Given the description of an element on the screen output the (x, y) to click on. 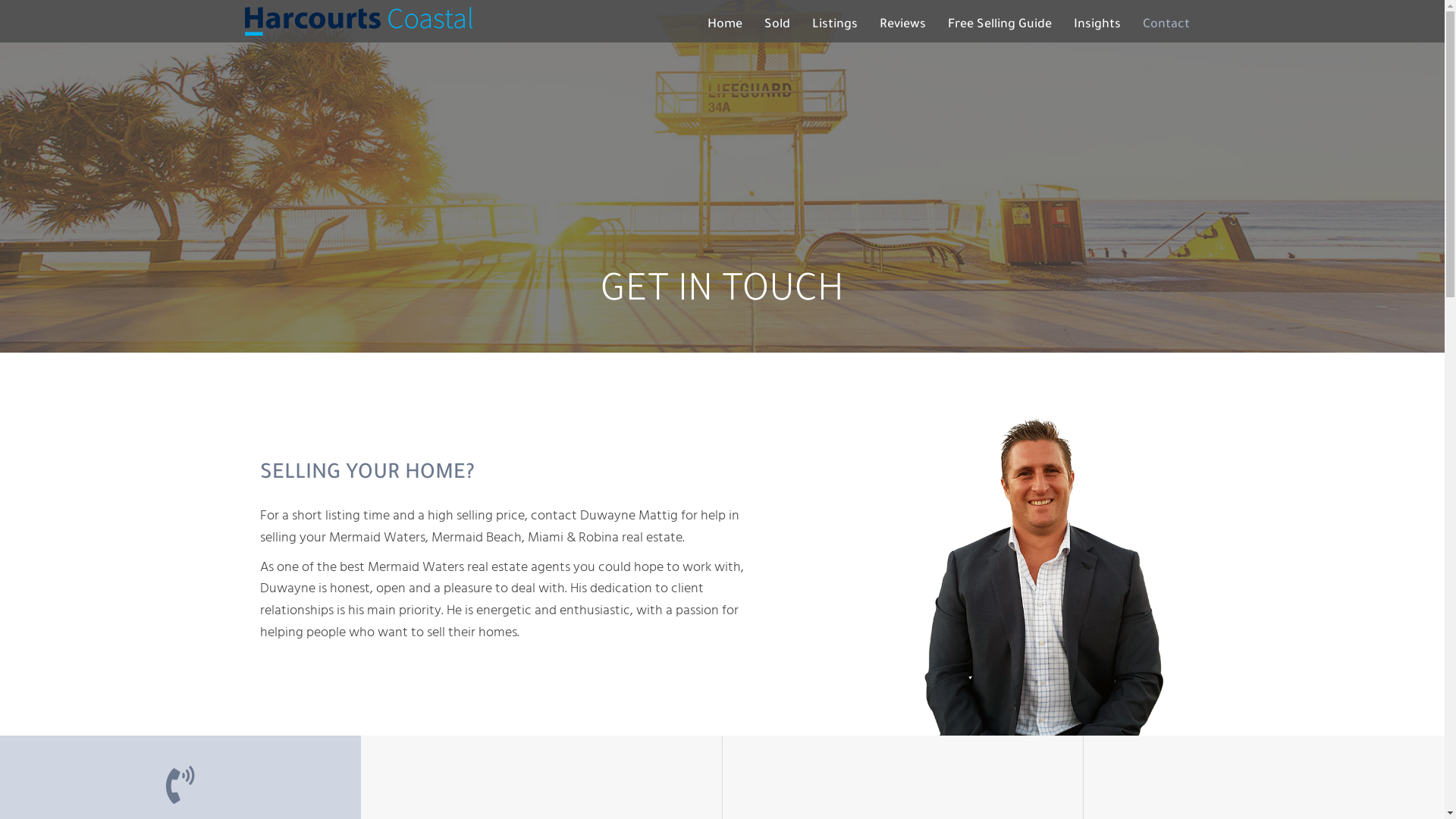
Free Selling Guide Element type: text (999, 24)
Listings Element type: text (833, 24)
Contact Element type: text (1165, 24)
Home Element type: text (724, 24)
Insights Element type: text (1097, 24)
Sold Element type: text (776, 24)
Reviews Element type: text (902, 24)
logo-coastal[1] Element type: hover (357, 20)
